Given the description of an element on the screen output the (x, y) to click on. 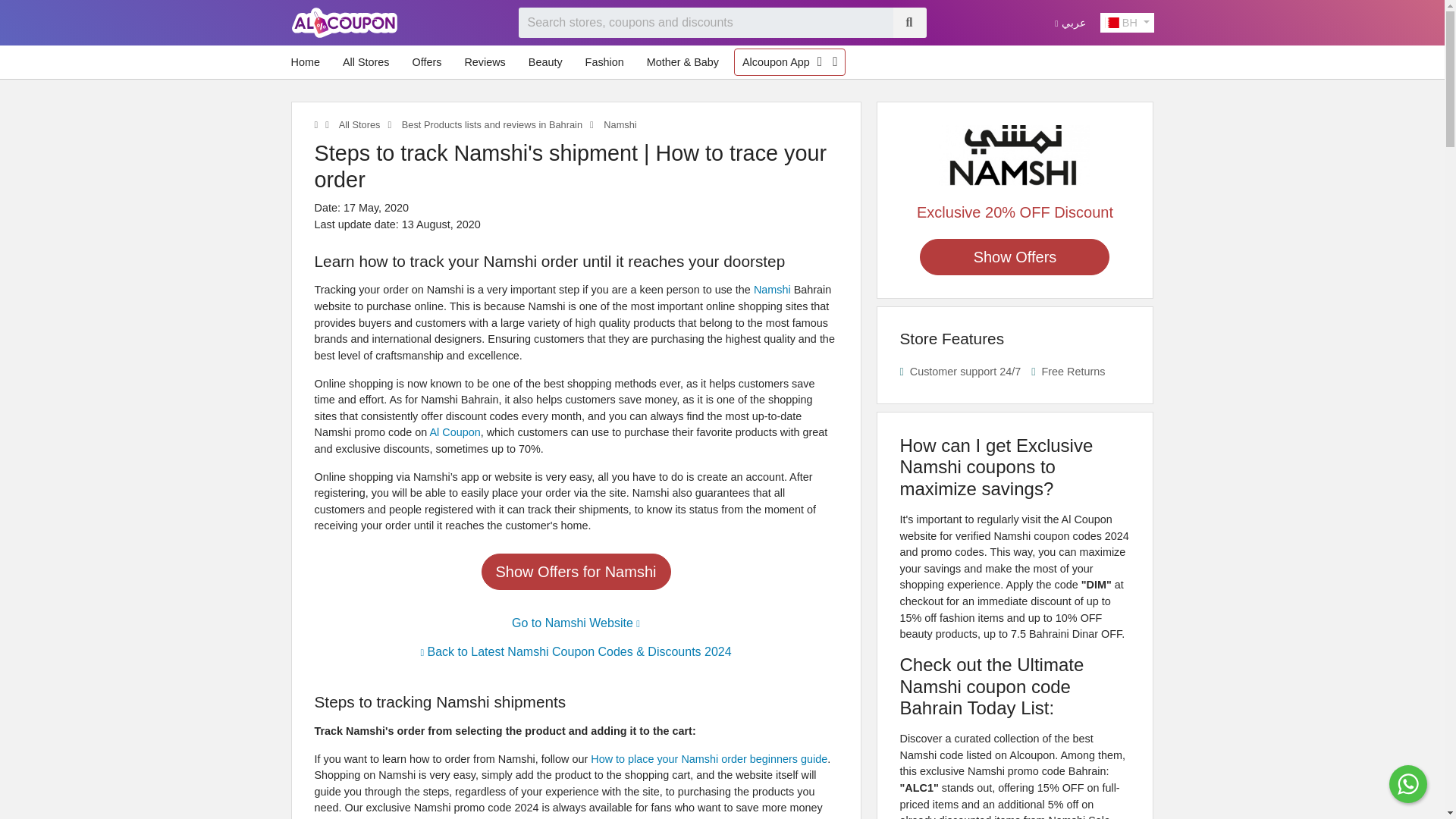
Reviews (484, 61)
Beauty (545, 61)
Fashion (604, 61)
Alcoupon App (775, 62)
BH (1127, 22)
Back to Namshi (575, 652)
Best Products lists and reviews in Bahrain (490, 124)
bh Go to Arabic Interface (1069, 22)
Show Offers for Namshi (574, 571)
All Stores (358, 124)
Offers (426, 61)
Go to Namshi Website (575, 623)
All Stores (365, 61)
Search (909, 22)
How to place your Namshi order beginners guide (709, 758)
